Given the description of an element on the screen output the (x, y) to click on. 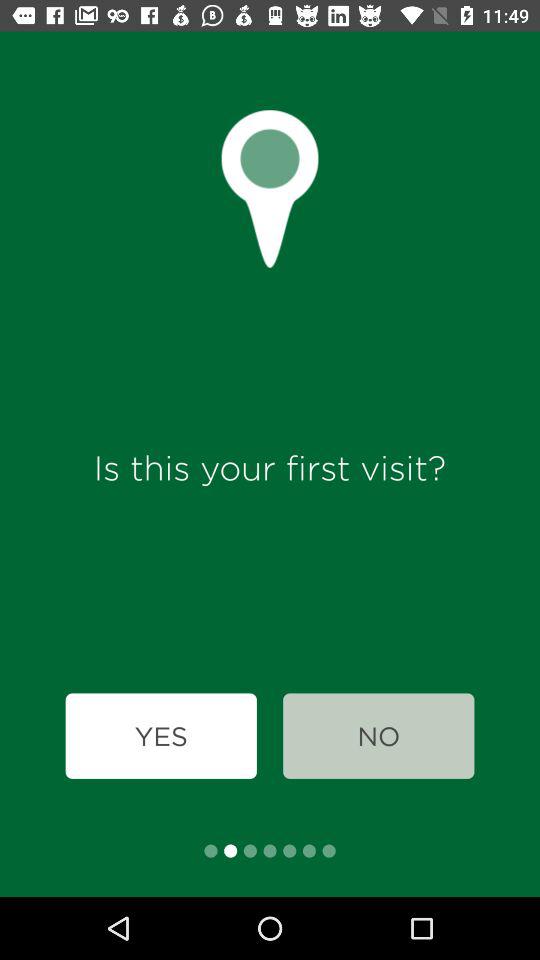
launch item to the right of the yes icon (378, 735)
